Given the description of an element on the screen output the (x, y) to click on. 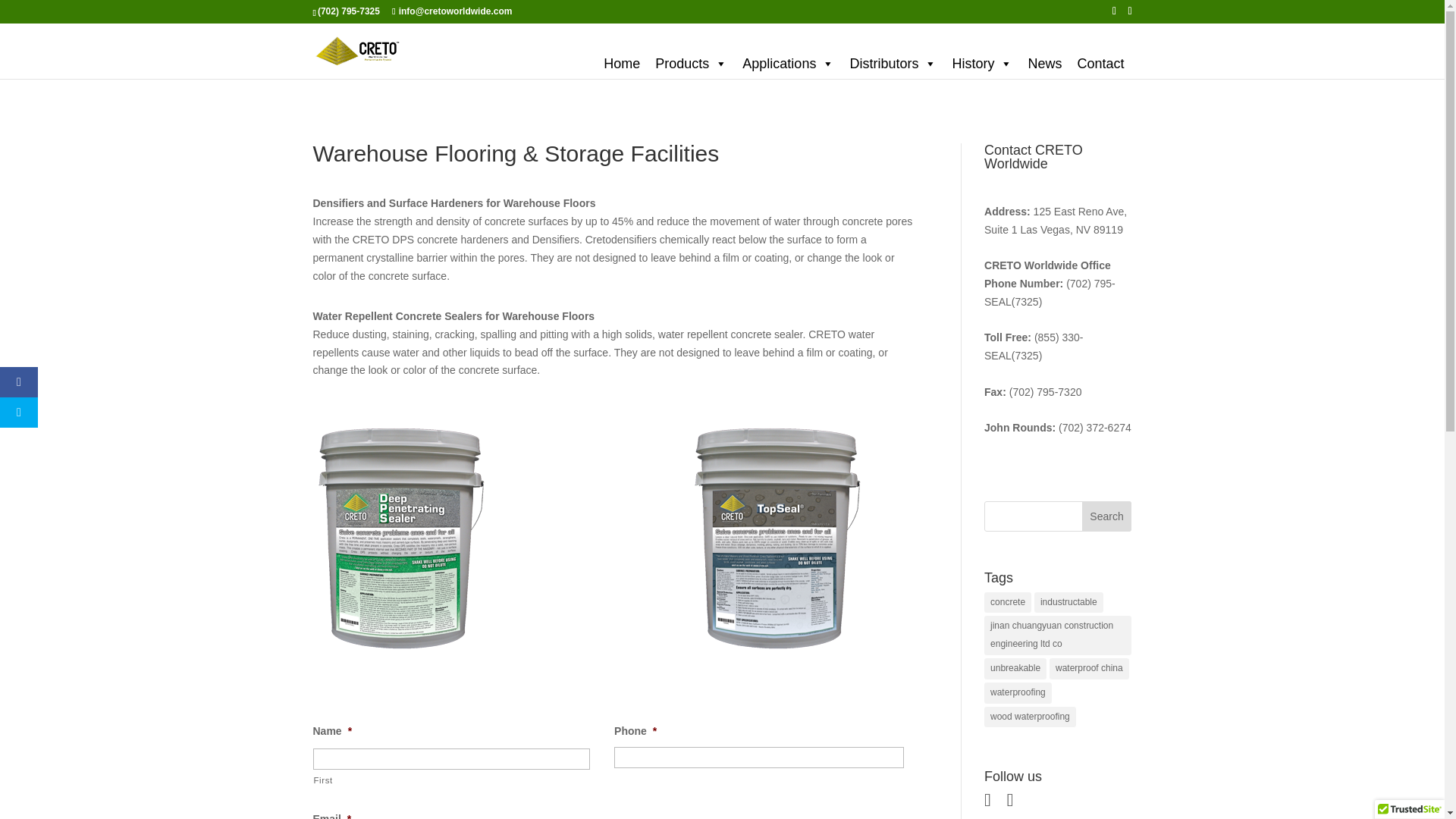
Search (1106, 516)
Products (691, 63)
Home (621, 63)
Applications (788, 63)
